Given the description of an element on the screen output the (x, y) to click on. 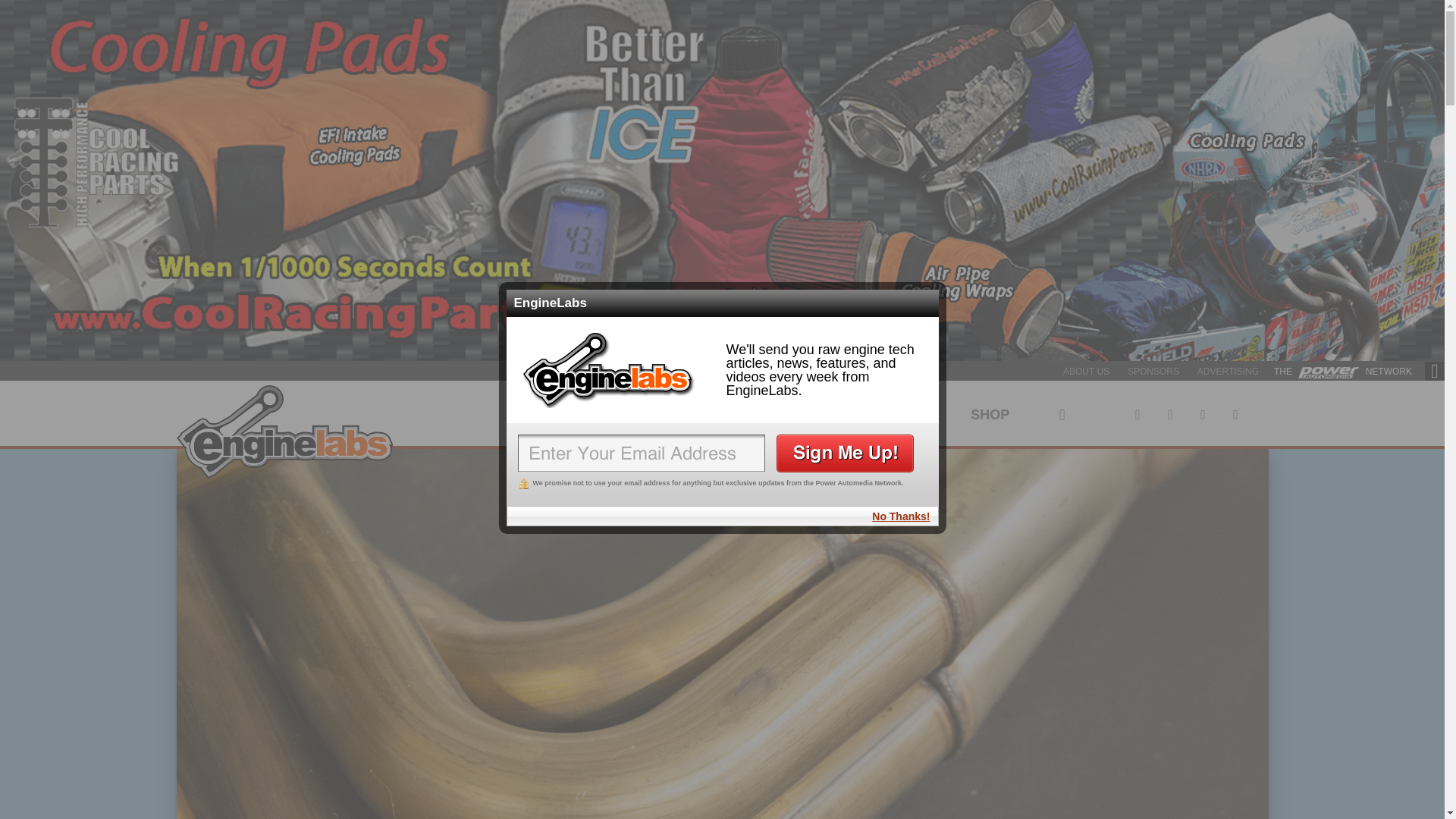
News (525, 412)
SPONSORS (1152, 371)
ADVERTISING (1227, 371)
ABOUT US (1085, 371)
Features (623, 412)
Sign me up (845, 453)
NEWS (525, 412)
EngineLabs Videos (904, 412)
